Given the description of an element on the screen output the (x, y) to click on. 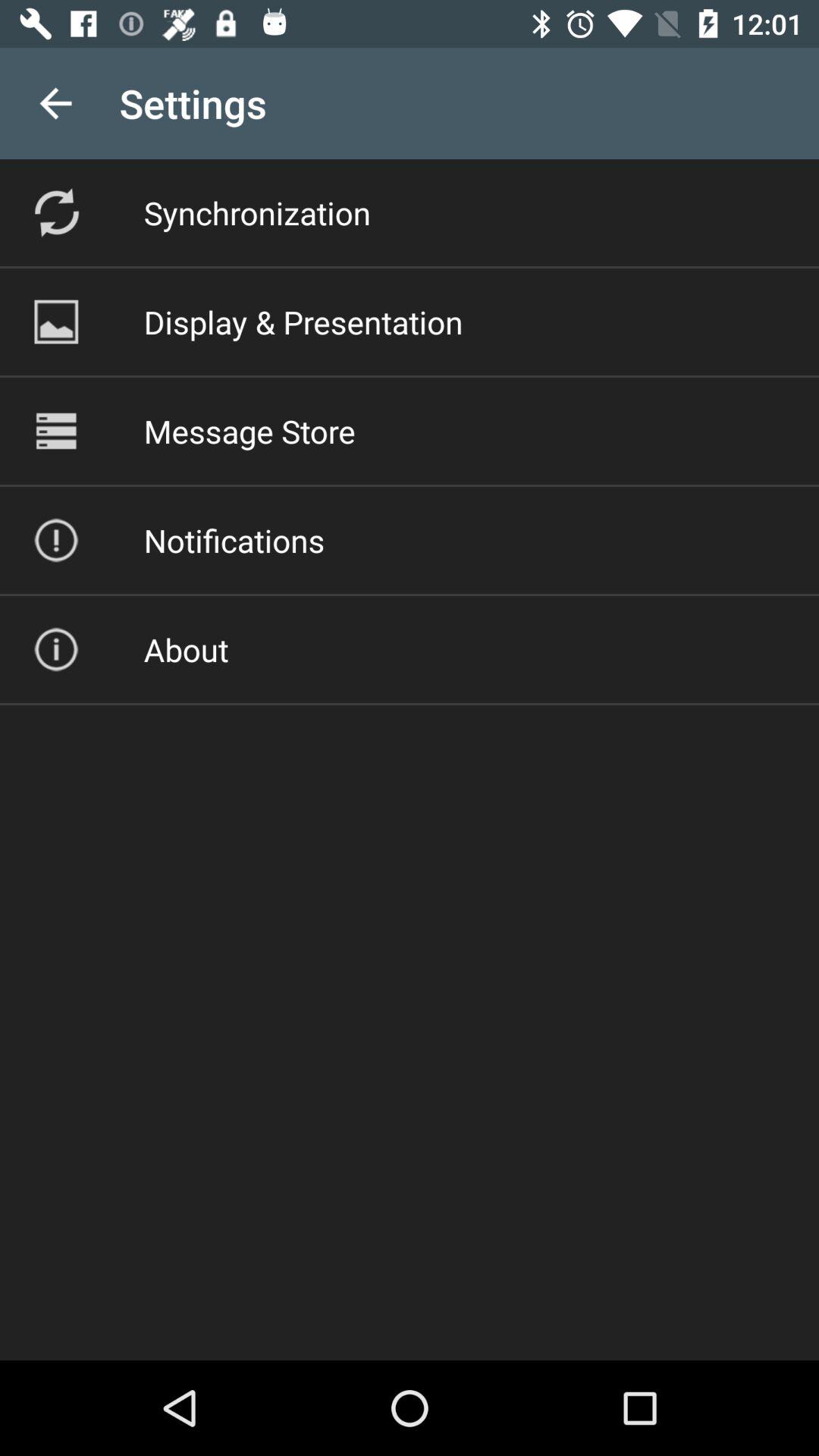
select the icon above notifications item (249, 430)
